Given the description of an element on the screen output the (x, y) to click on. 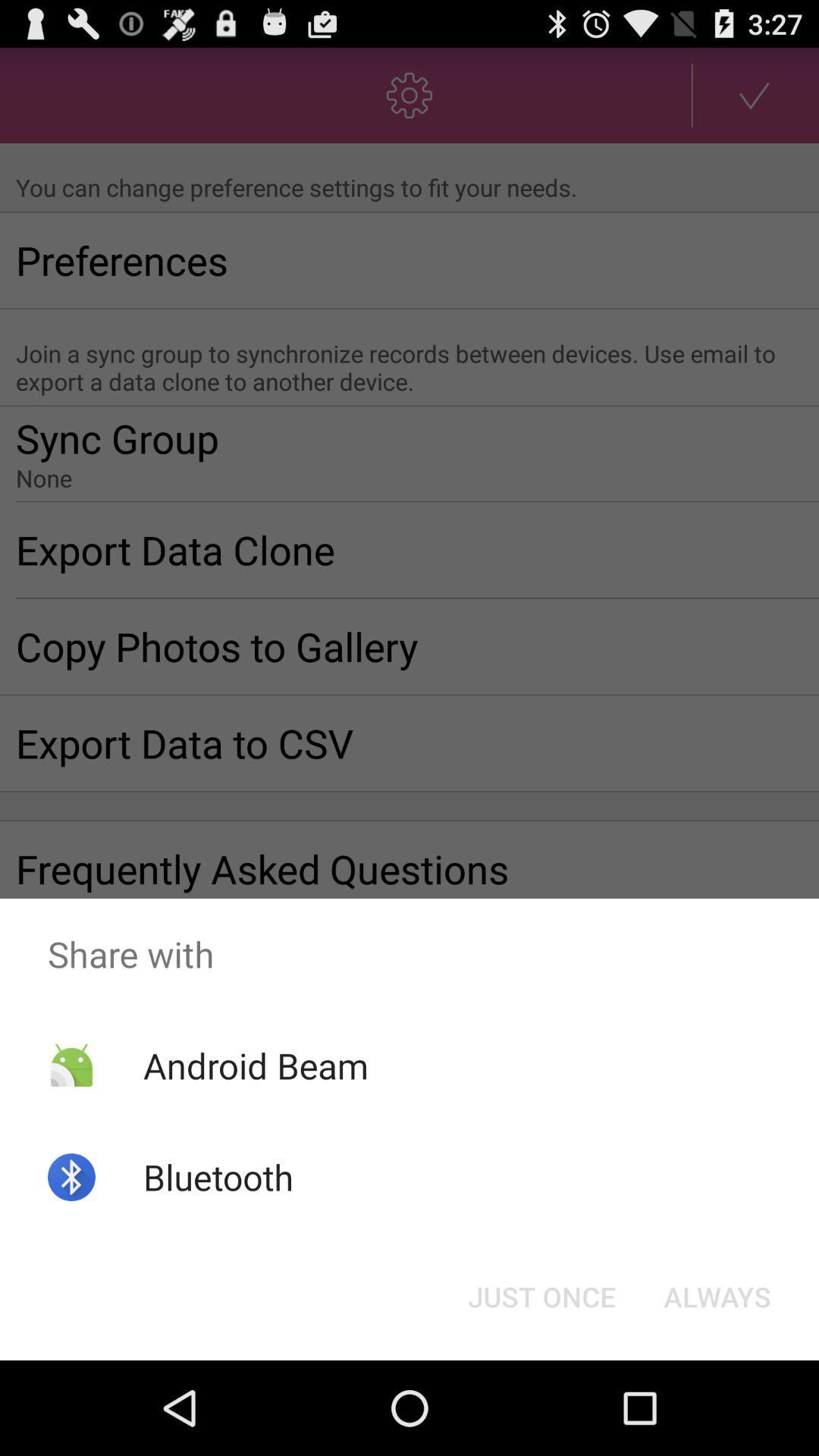
click the item above the bluetooth icon (255, 1065)
